Given the description of an element on the screen output the (x, y) to click on. 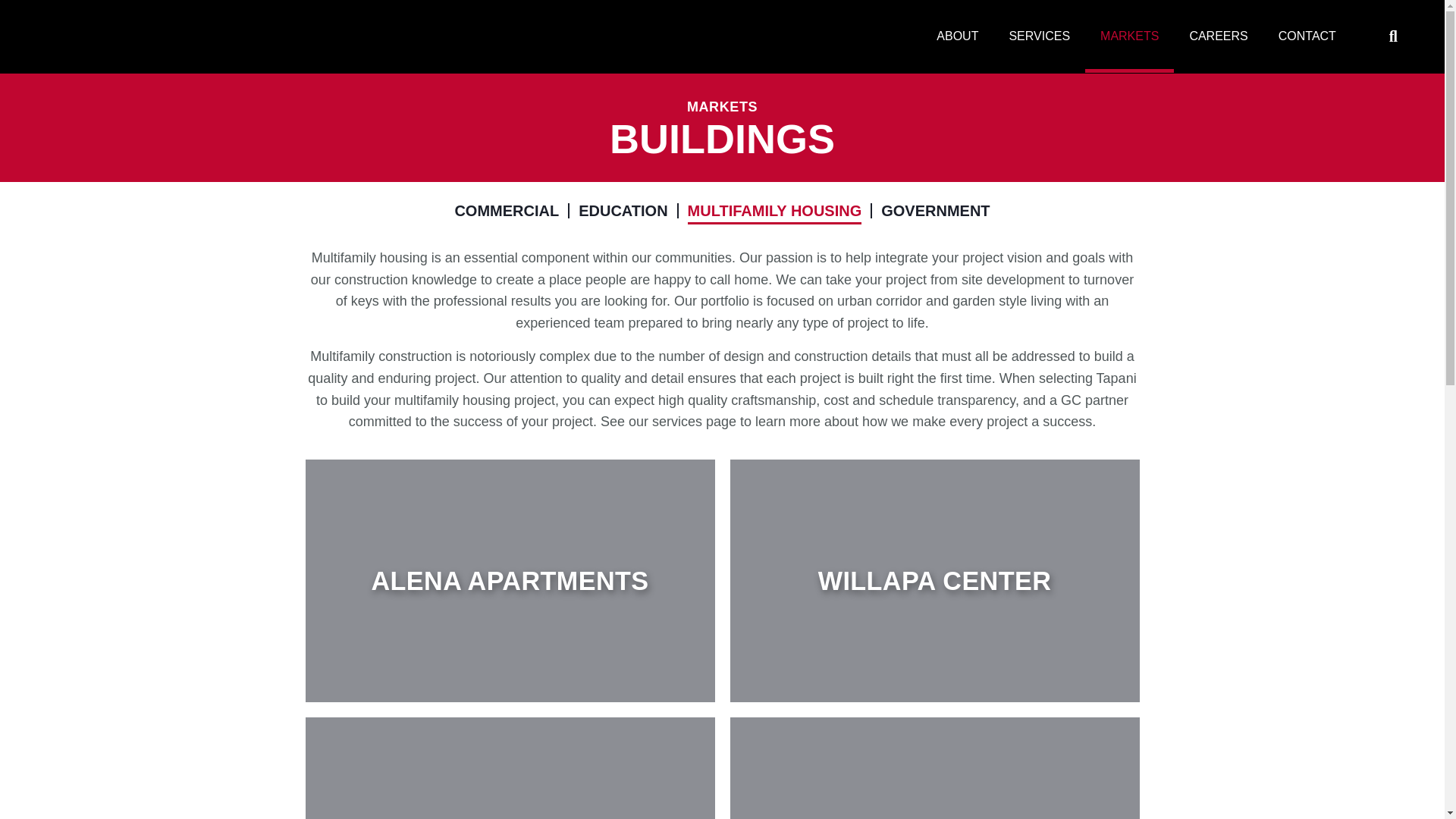
ABOUT (956, 36)
MARKETS (1128, 36)
SERVICES (1038, 36)
